Given the description of an element on the screen output the (x, y) to click on. 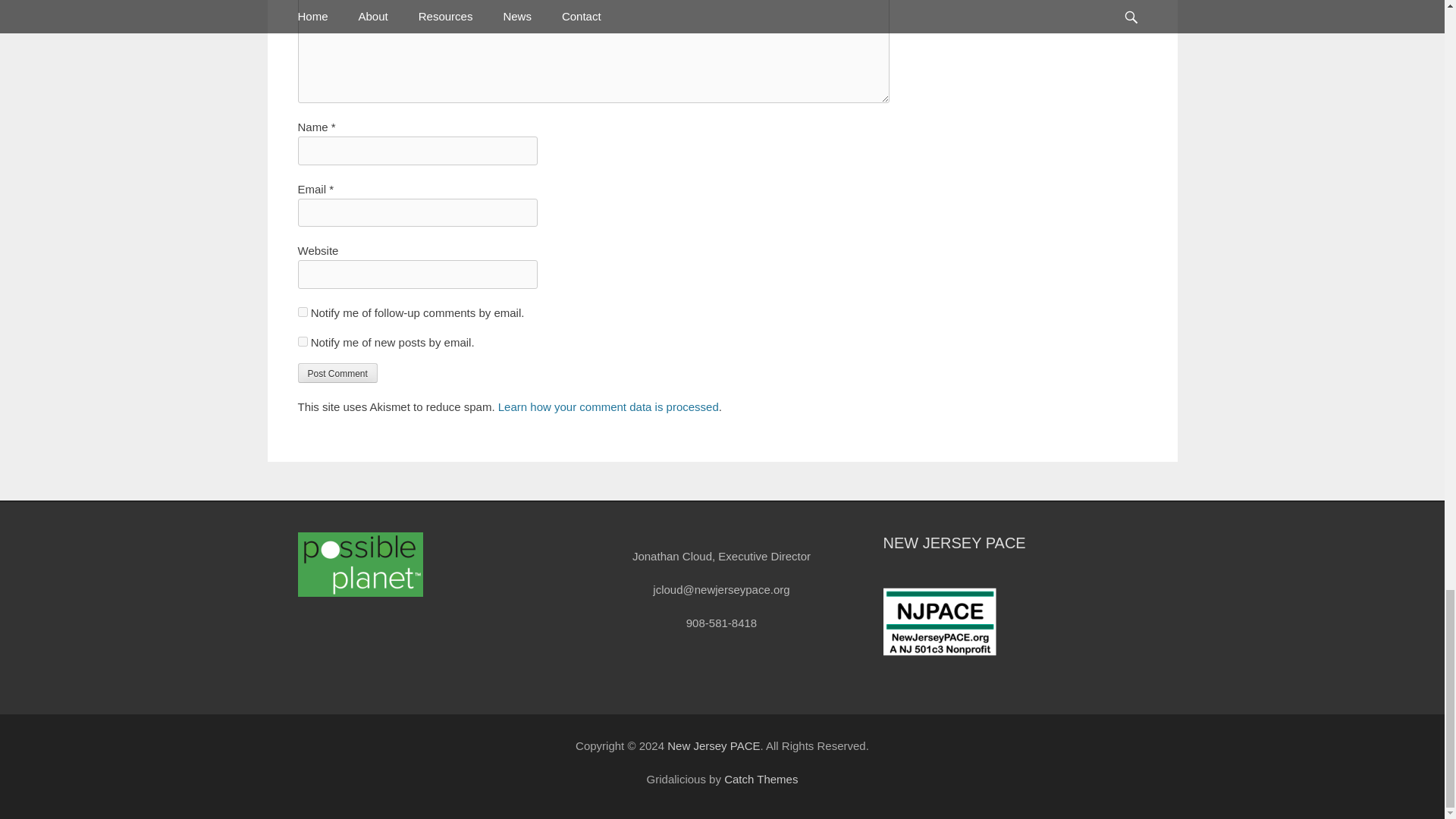
subscribe (302, 341)
subscribe (302, 311)
Post Comment (337, 373)
